Given the description of an element on the screen output the (x, y) to click on. 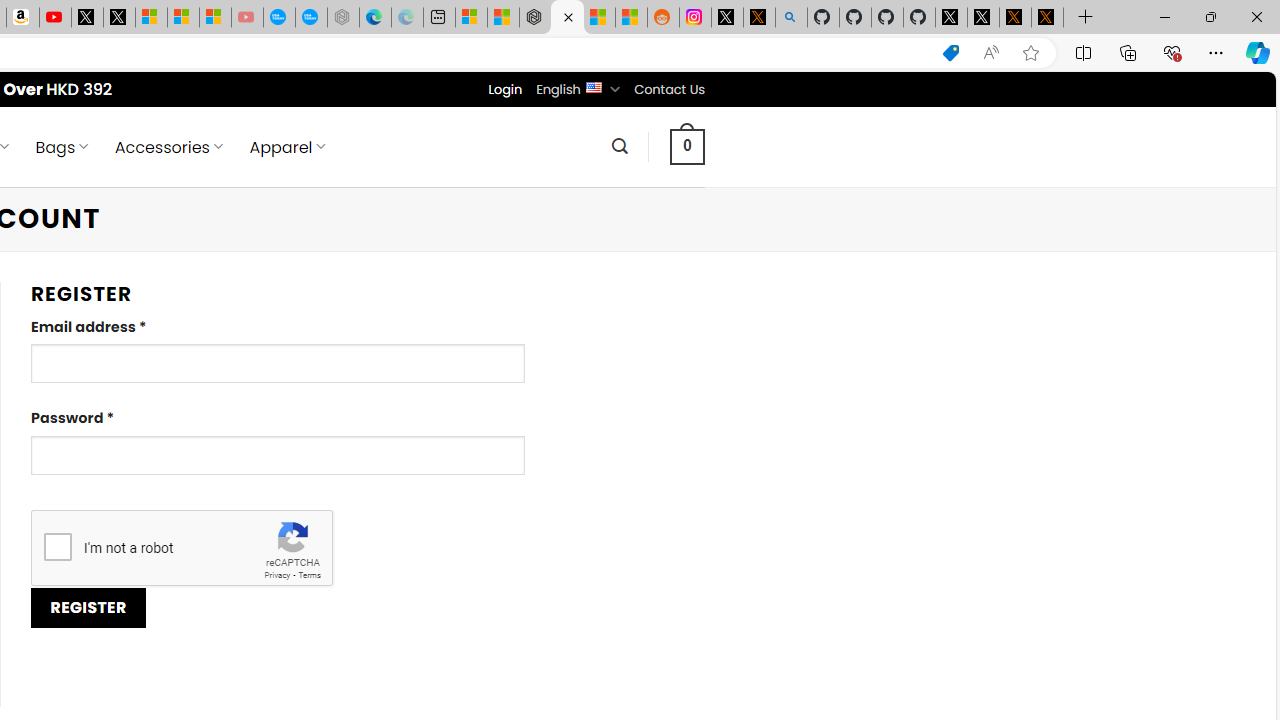
Login (505, 89)
